Given the description of an element on the screen output the (x, y) to click on. 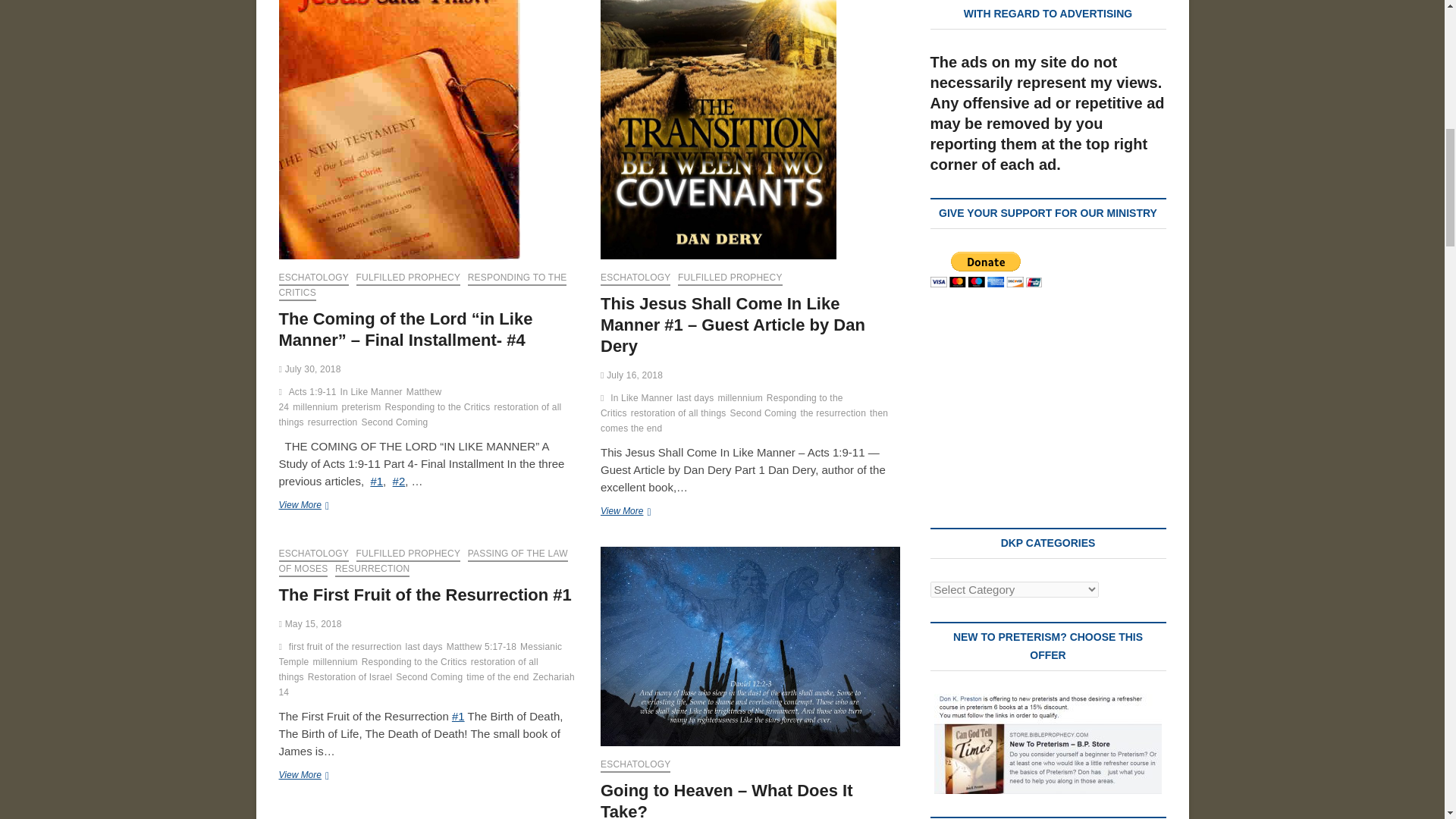
FULFILLED PROPHECY (408, 278)
July 16, 2018 (630, 375)
ESCHATOLOGY (314, 278)
July 30, 2018 (309, 368)
In Like Manner (373, 393)
millennium (316, 409)
restoration of all things (420, 416)
preterism (363, 409)
July 30, 2018 (309, 368)
Acts 1:9-11 (314, 393)
